Given the description of an element on the screen output the (x, y) to click on. 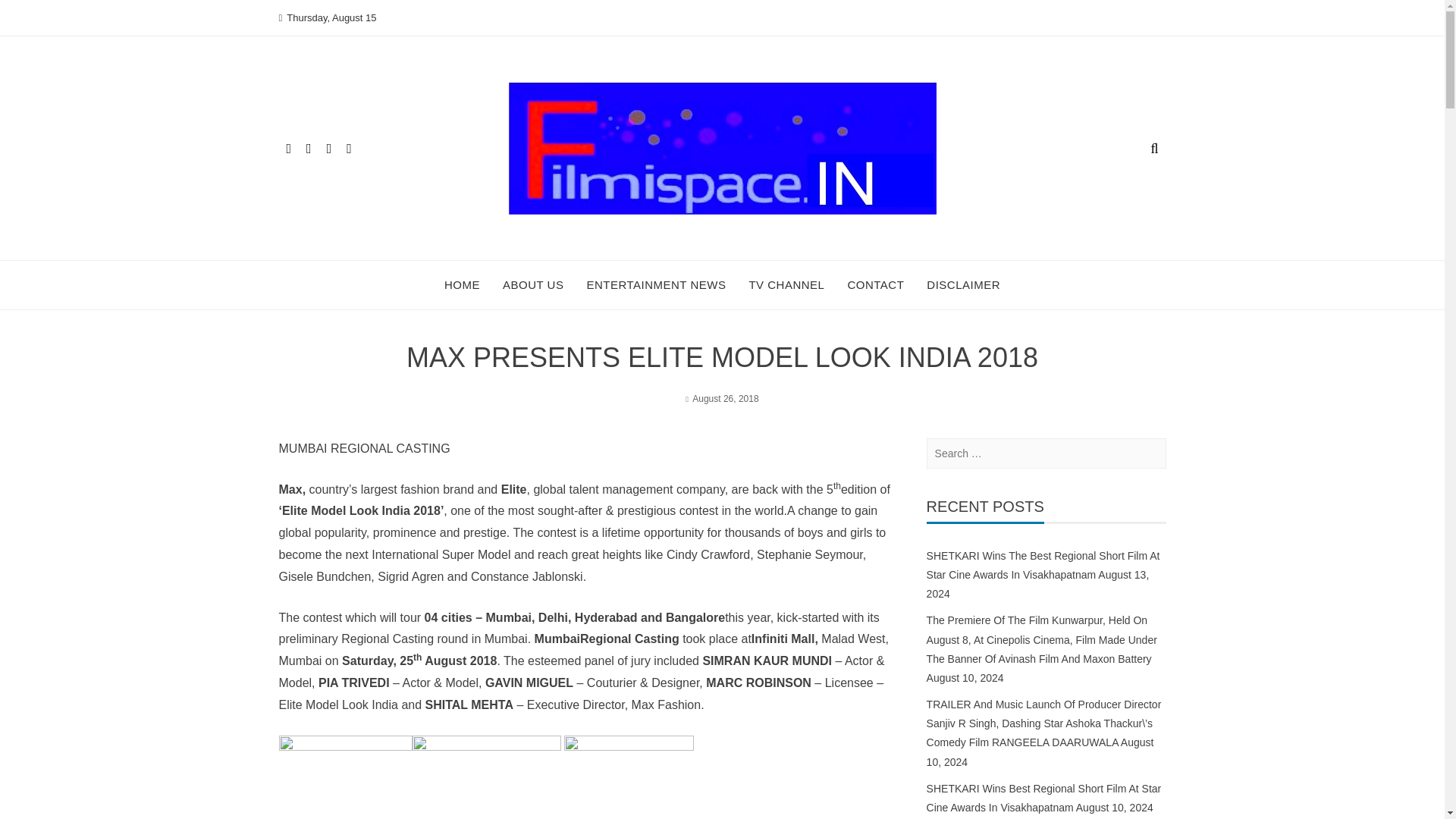
TV CHANNEL (786, 284)
HOME (462, 284)
ENTERTAINMENT NEWS (655, 284)
Search (32, 15)
CONTACT (875, 284)
DISCLAIMER (963, 284)
ABOUT US (532, 284)
